Given the description of an element on the screen output the (x, y) to click on. 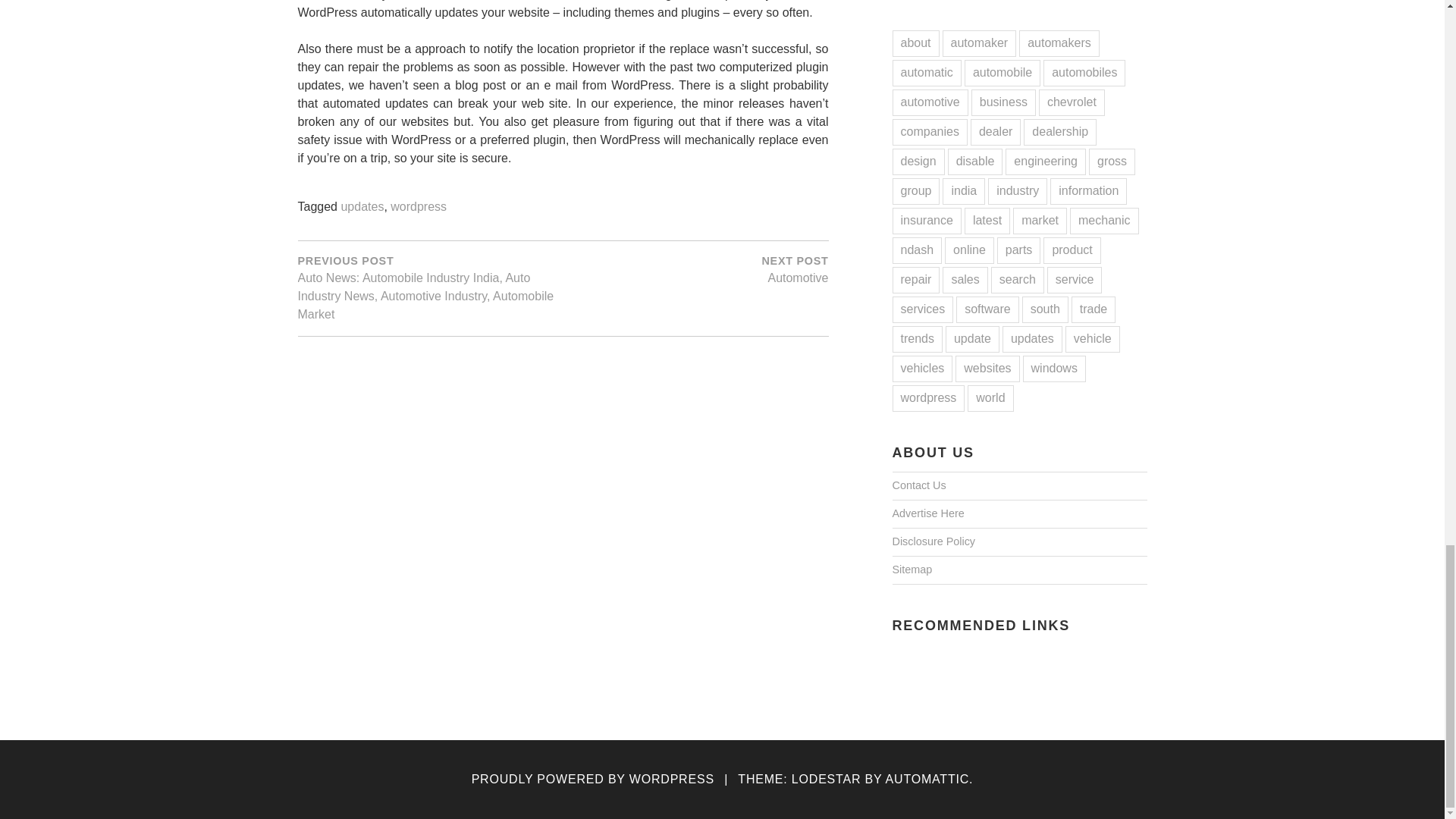
wordpress (695, 268)
updates (418, 206)
